Given the description of an element on the screen output the (x, y) to click on. 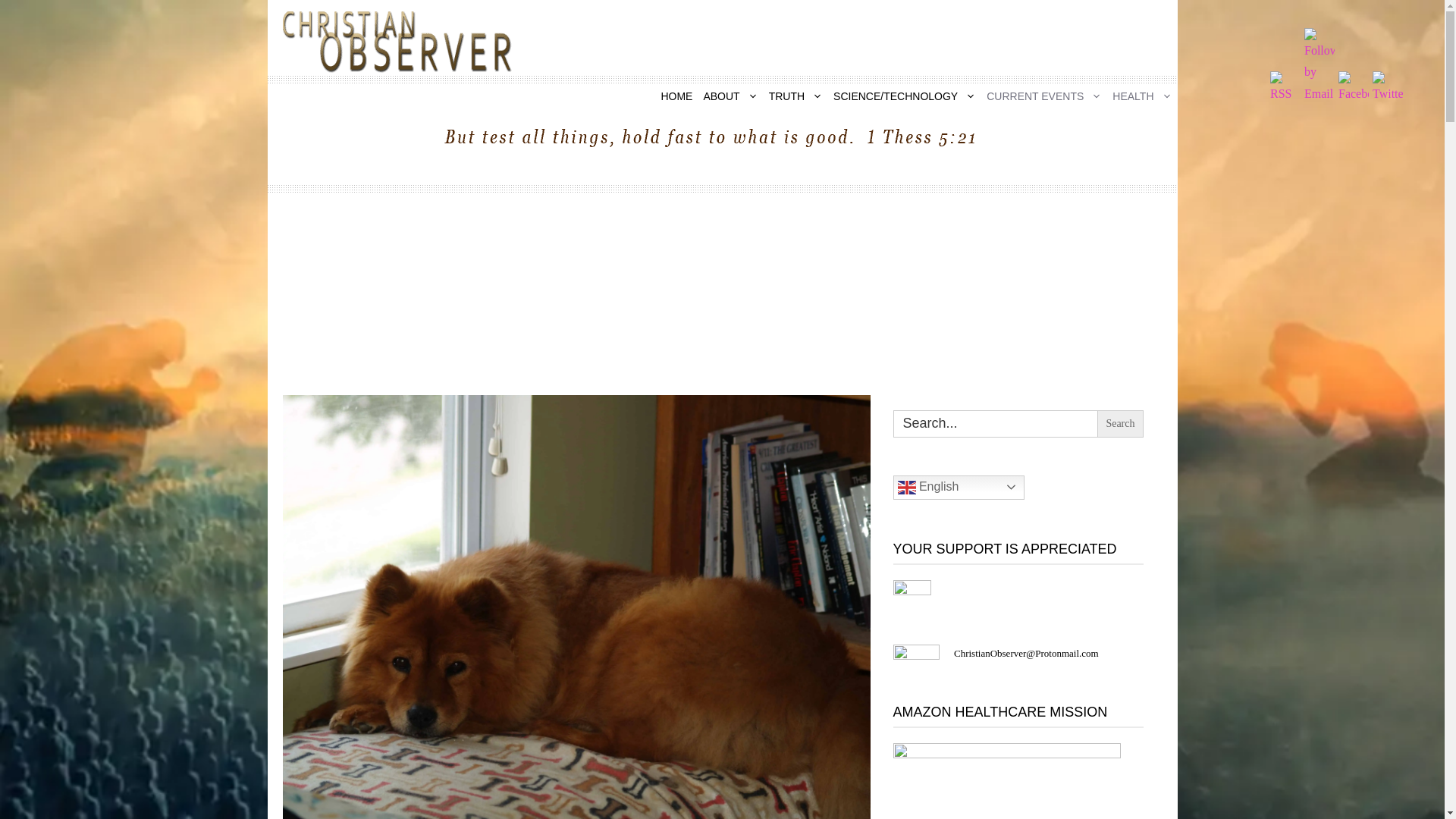
HOME (676, 96)
Search (1119, 423)
TRUTH (795, 96)
ABOUT (729, 96)
Search (1119, 423)
